Given the description of an element on the screen output the (x, y) to click on. 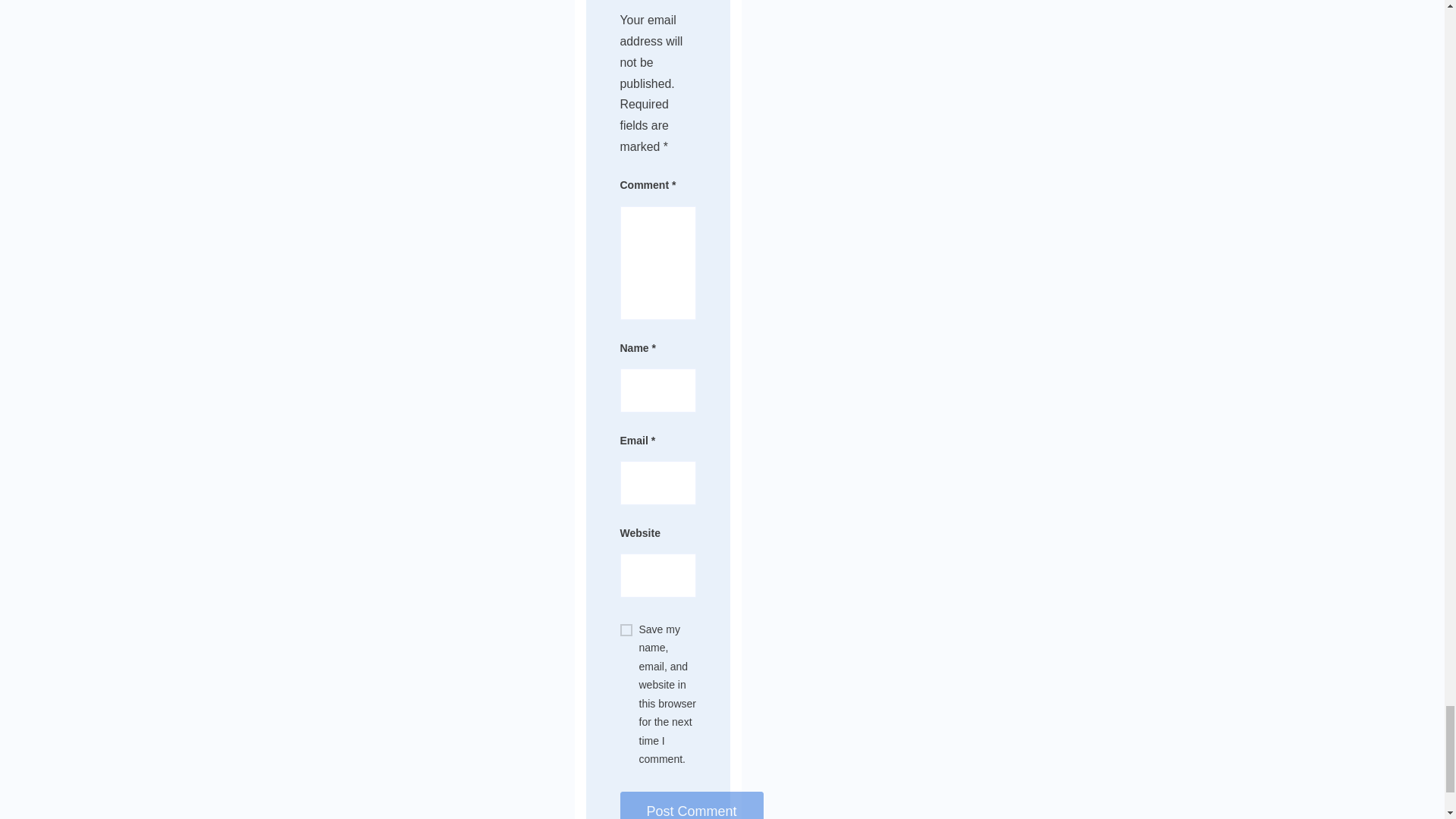
Post Comment (691, 805)
